Given the description of an element on the screen output the (x, y) to click on. 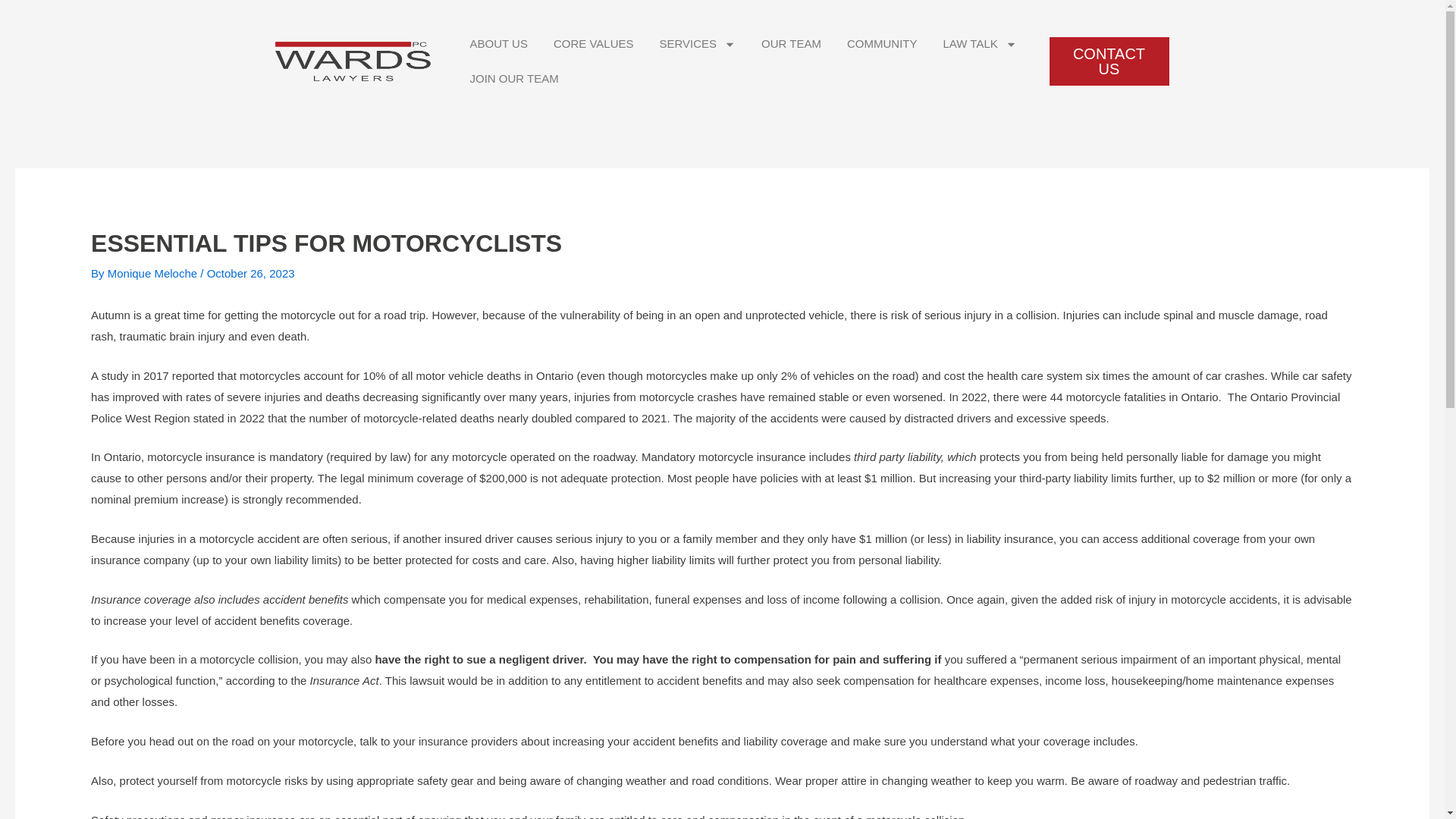
JOIN OUR TEAM (513, 78)
View all posts by Monique Meloche (153, 273)
SERVICES (697, 43)
CONTACT US (1108, 61)
LAW TALK (979, 43)
COMMUNITY (882, 43)
Monique Meloche (153, 273)
OUR TEAM (791, 43)
ABOUT US (498, 43)
CORE VALUES (593, 43)
